Given the description of an element on the screen output the (x, y) to click on. 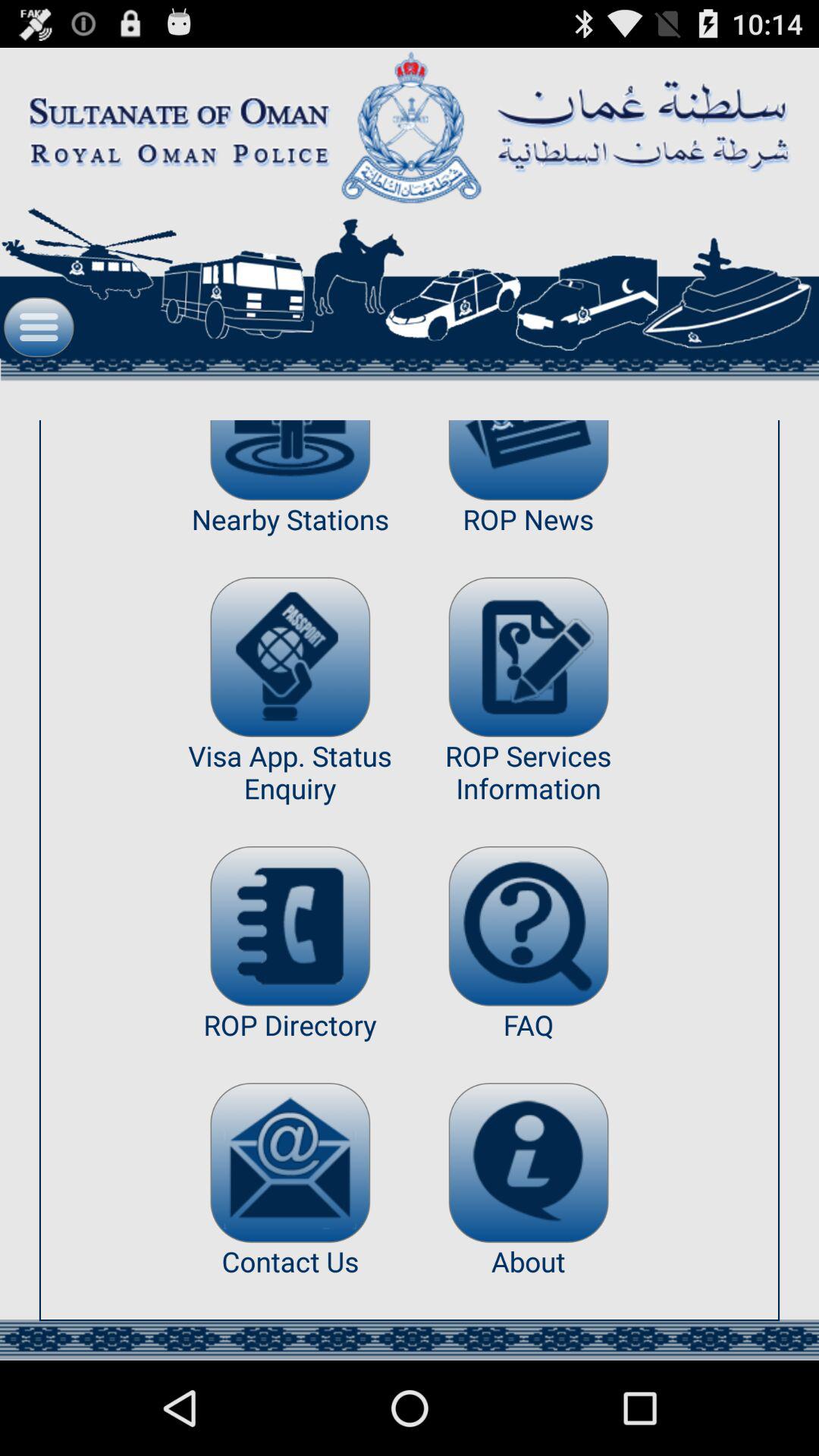
see frequently asked questions (528, 926)
